Given the description of an element on the screen output the (x, y) to click on. 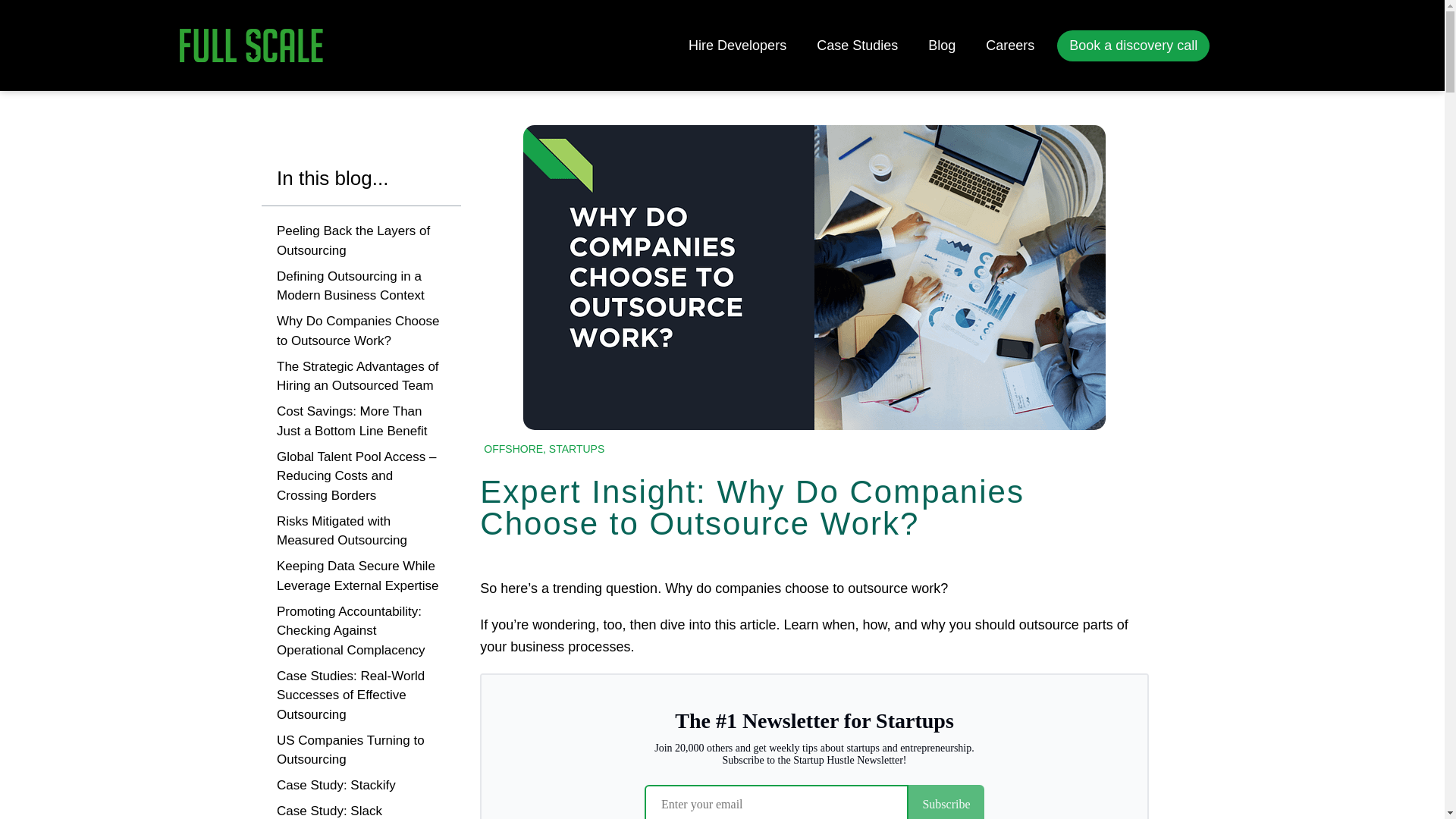
Defining Outsourcing in a Modern Business Context (360, 285)
Cost Savings: More Than Just a Bottom Line Benefit (360, 421)
Keeping Data Secure While Leverage External Expertise (360, 575)
Case Study: Stackify (336, 785)
Blog (941, 45)
Careers (1010, 45)
Case Study: Slack (328, 810)
Case Studies: Real-World Successes of Effective Outsourcing (360, 695)
The Strategic Advantages of Hiring an Outsourced Team (360, 376)
Book a discovery call (1133, 45)
Peeling Back the Layers of Outsourcing (360, 240)
Hire Developers (737, 45)
Case Studies (857, 45)
Risks Mitigated with Measured Outsourcing (360, 530)
